Given the description of an element on the screen output the (x, y) to click on. 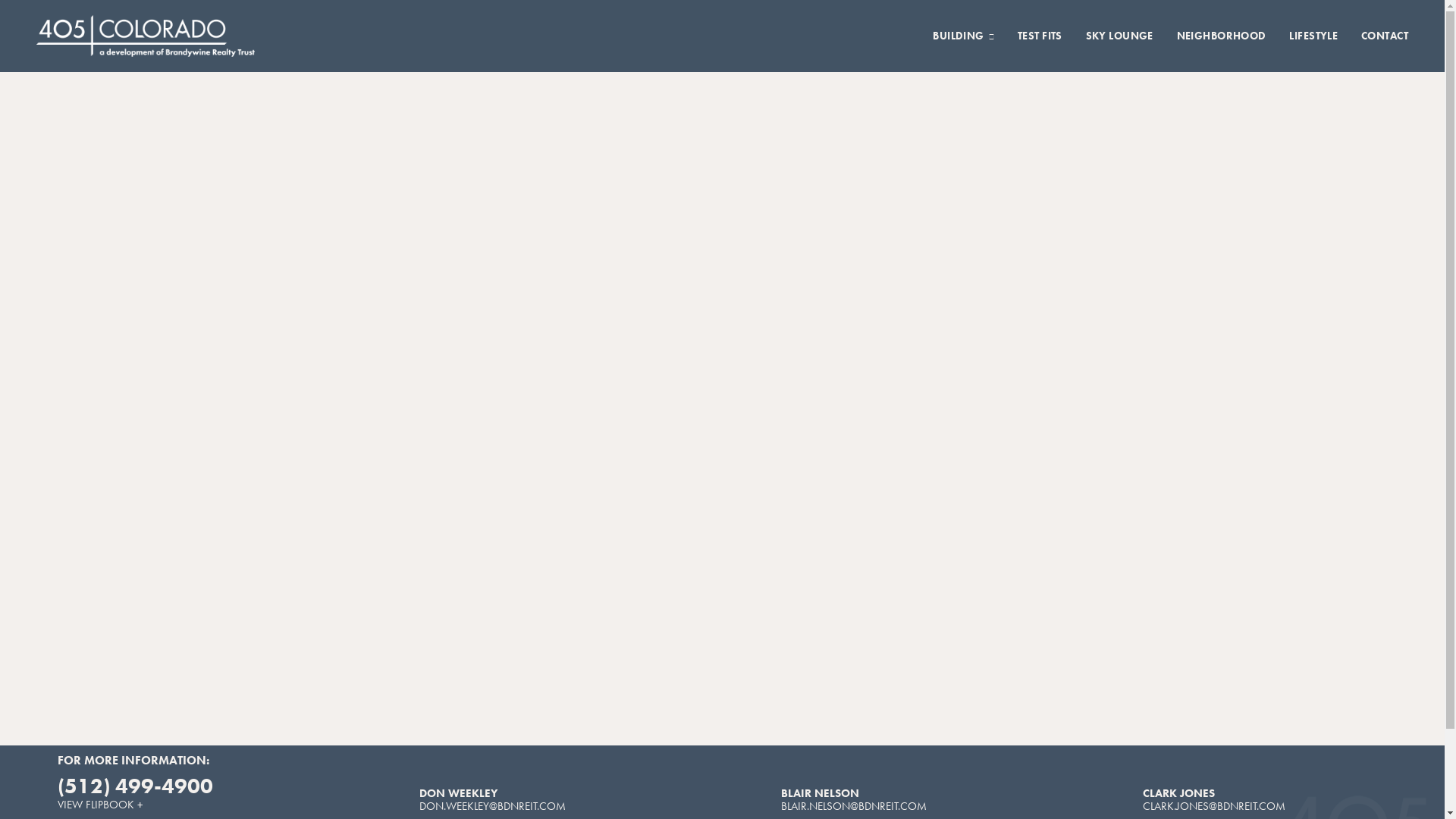
TEST FITS Element type: text (1039, 35)
CONTACT Element type: text (1384, 35)
LIFESTYLE Element type: text (1313, 35)
NEIGHBORHOOD Element type: text (1221, 35)
BLAIR.NELSON@BDNREIT.COM Element type: text (853, 804)
(512) 499-4900 Element type: text (135, 785)
DON.WEEKLEY@BDNREIT.COM Element type: text (492, 804)
CLARK.JONES@BDNREIT.COM Element type: text (1213, 804)
405 Colorado Element type: hover (145, 35)
SKY LOUNGE Element type: text (1119, 35)
VIEW FLIPBOOK + Element type: text (100, 804)
